Given the description of an element on the screen output the (x, y) to click on. 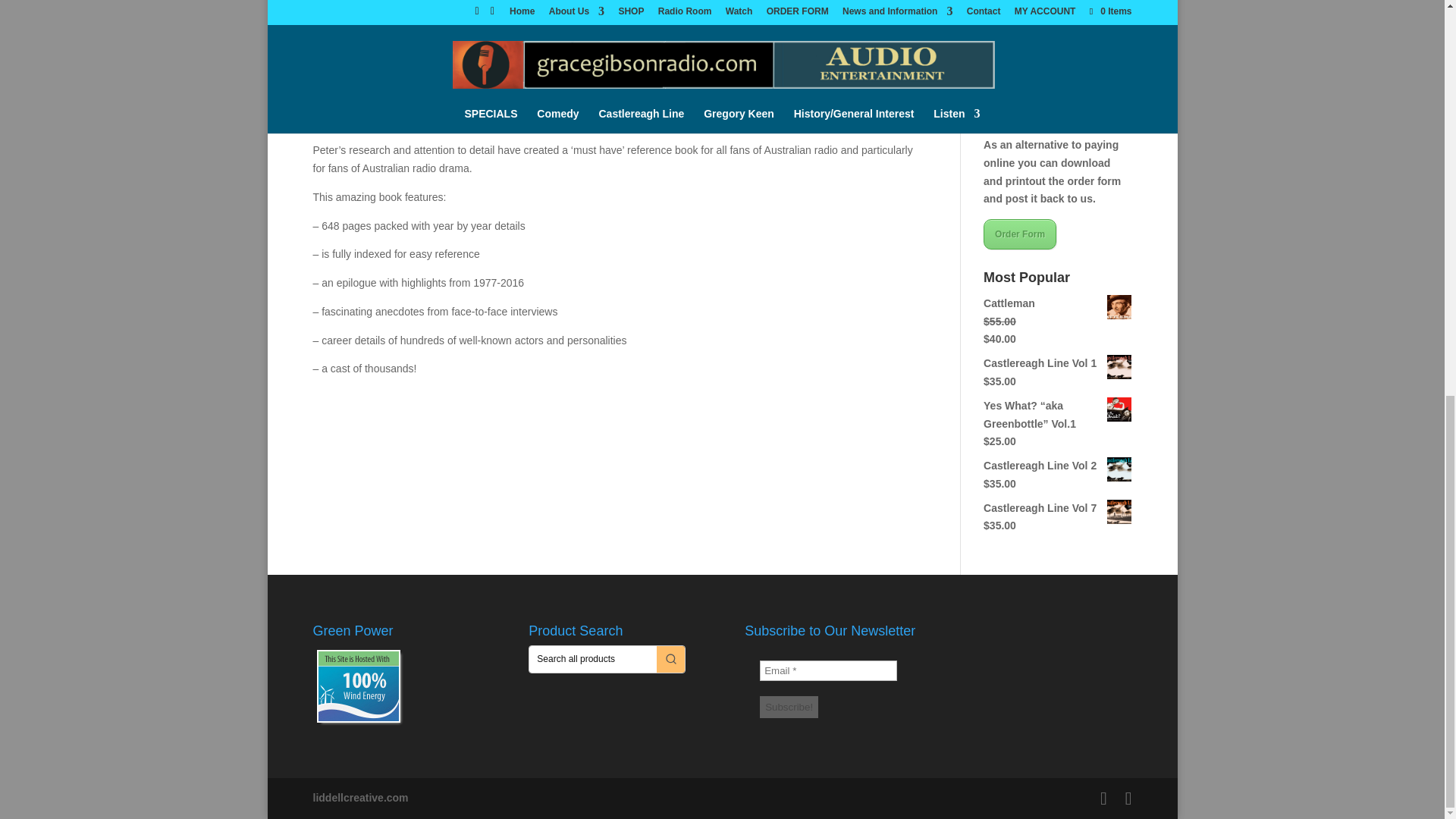
Search all products (592, 659)
Search all products (592, 659)
Subscribe! (789, 707)
Email (828, 670)
